Given the description of an element on the screen output the (x, y) to click on. 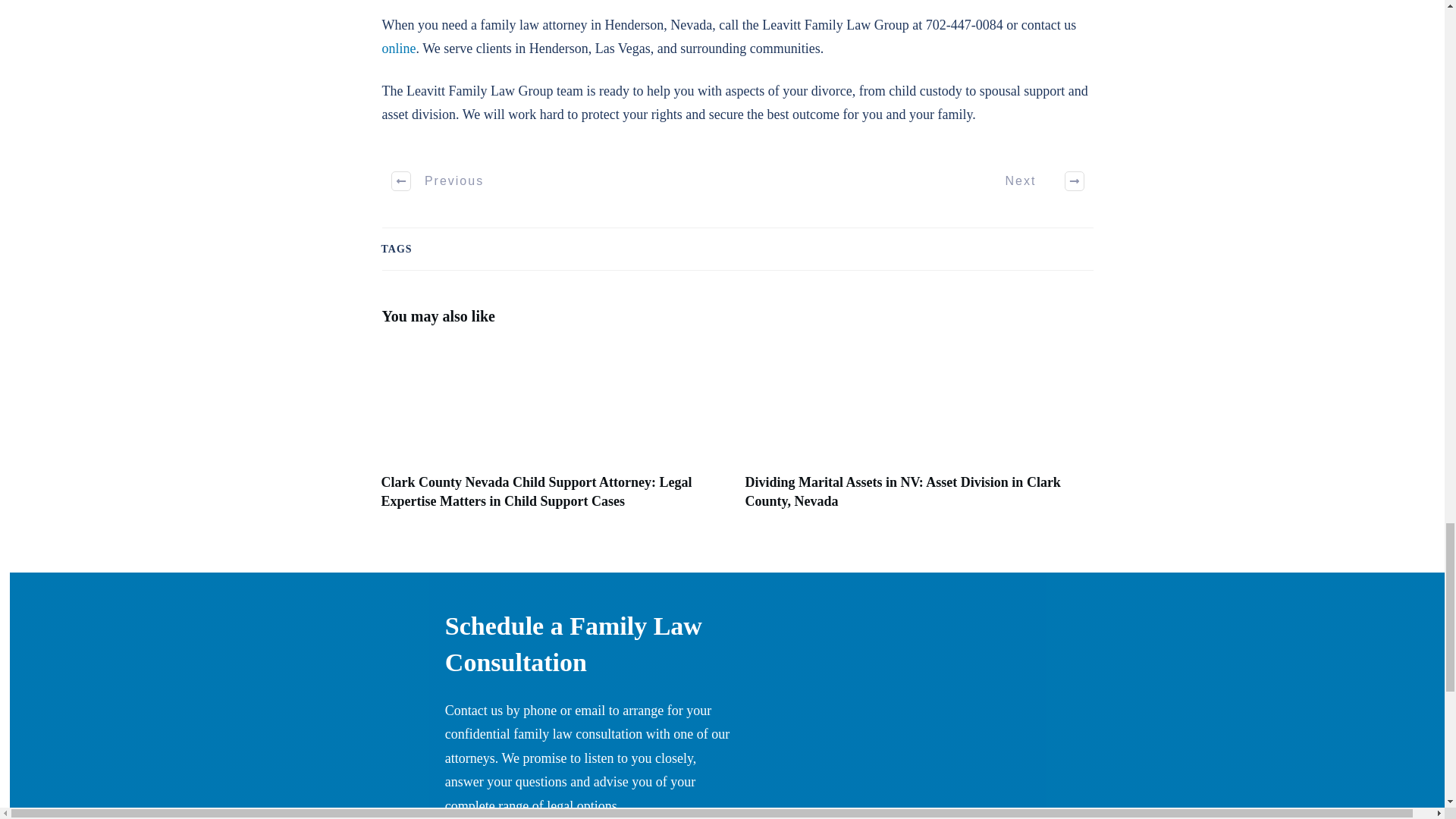
Previous (438, 180)
online (398, 48)
Next (1036, 180)
